Given the description of an element on the screen output the (x, y) to click on. 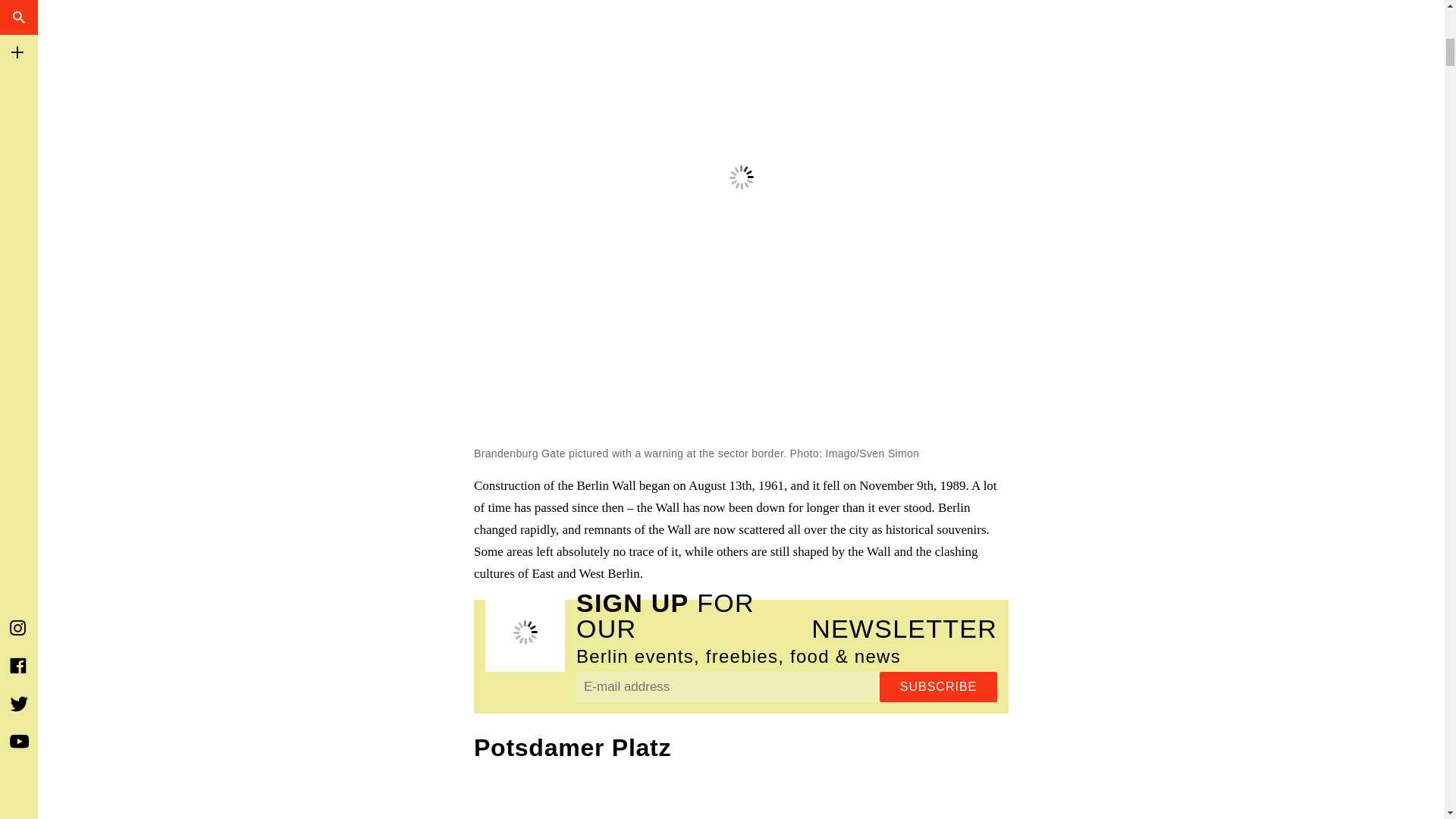
Subscribe (938, 686)
Subscribe (938, 686)
